Given the description of an element on the screen output the (x, y) to click on. 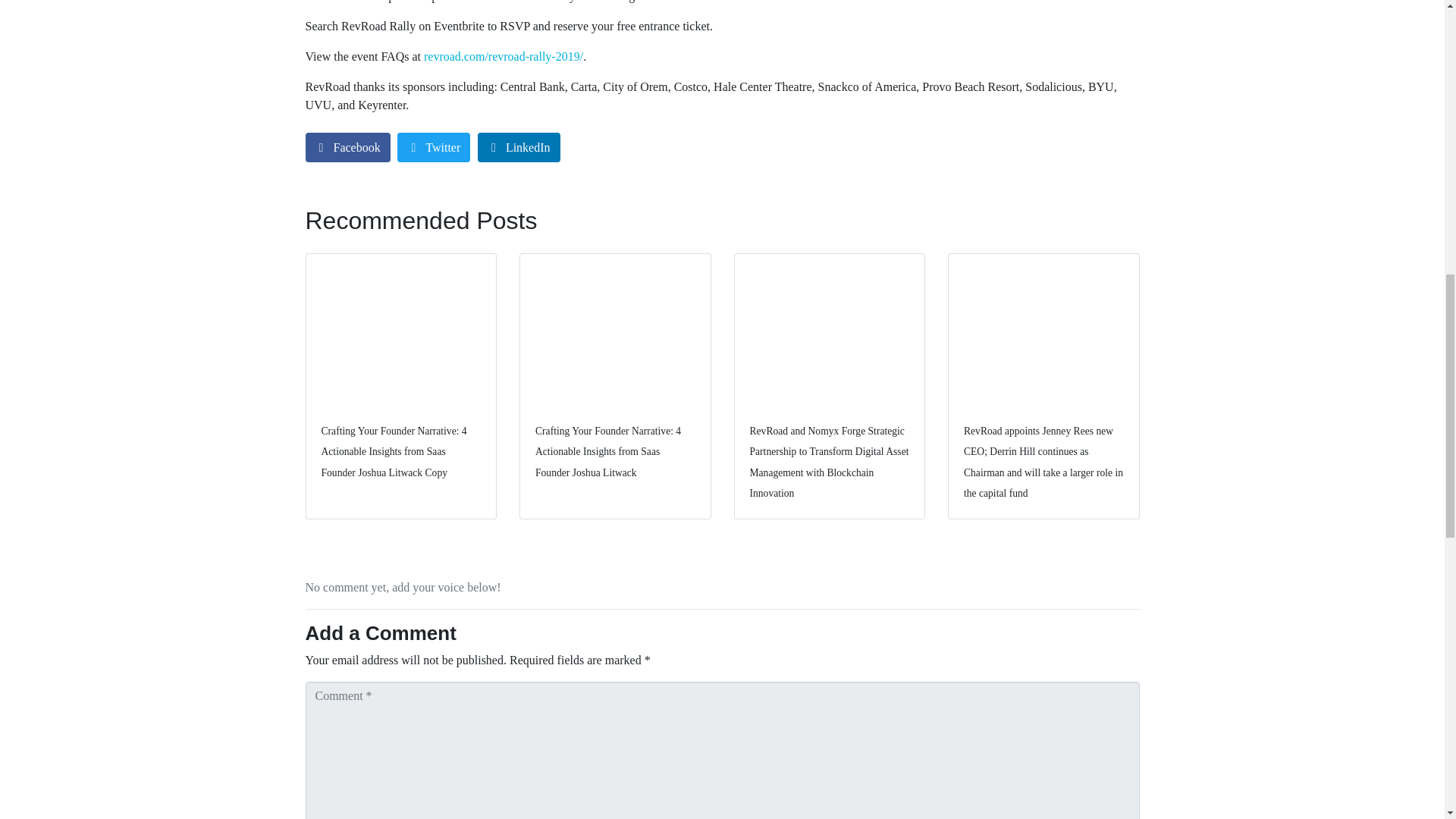
LinkedIn (518, 147)
Facebook (347, 147)
Twitter (433, 147)
